Given the description of an element on the screen output the (x, y) to click on. 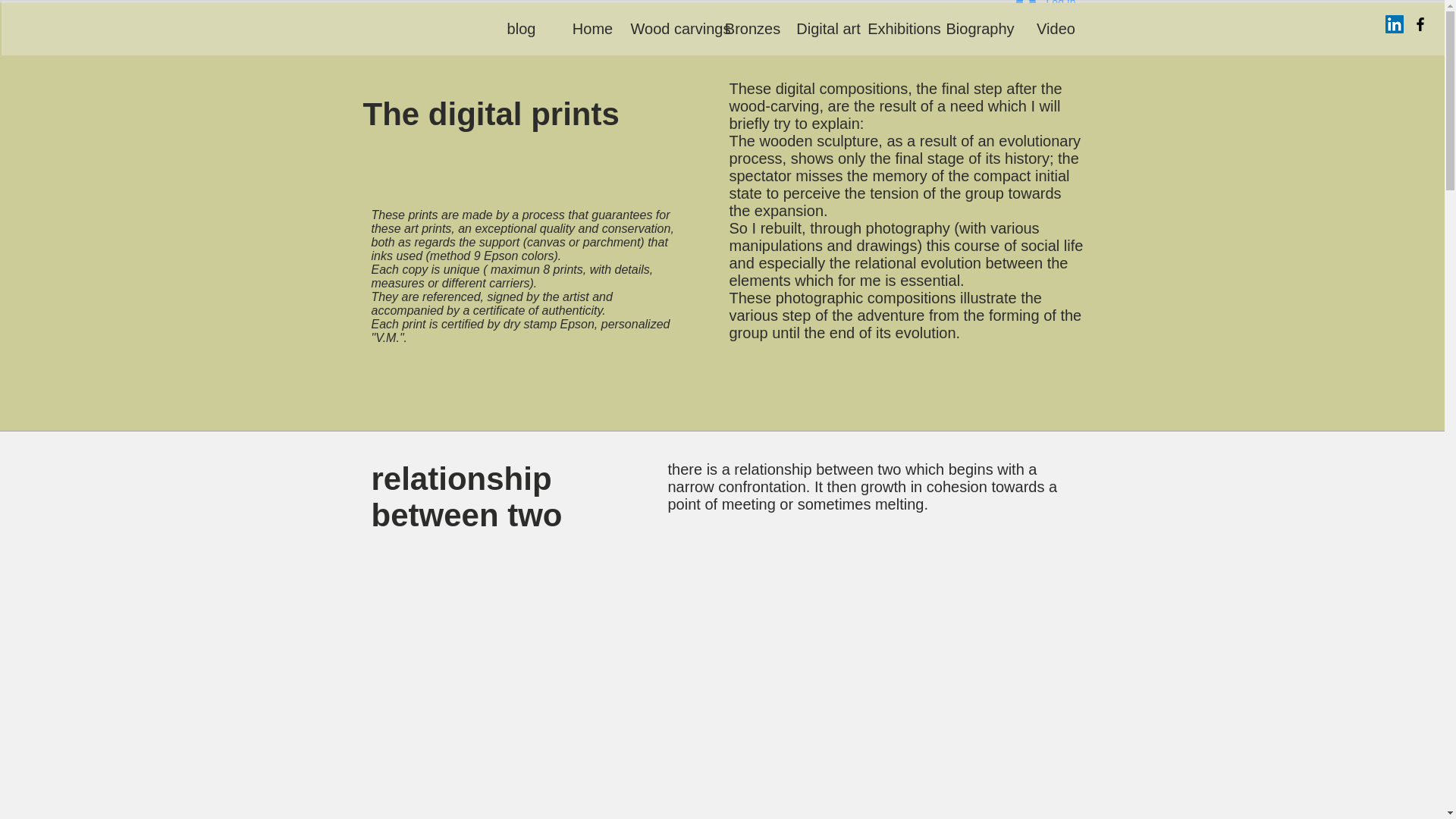
Wood carvings (680, 28)
Video (1055, 28)
Exhibitions (904, 28)
Bronzes (752, 28)
Log In (1046, 8)
Digital art (828, 28)
Home (592, 28)
blog (521, 28)
Biography (979, 28)
